Given the description of an element on the screen output the (x, y) to click on. 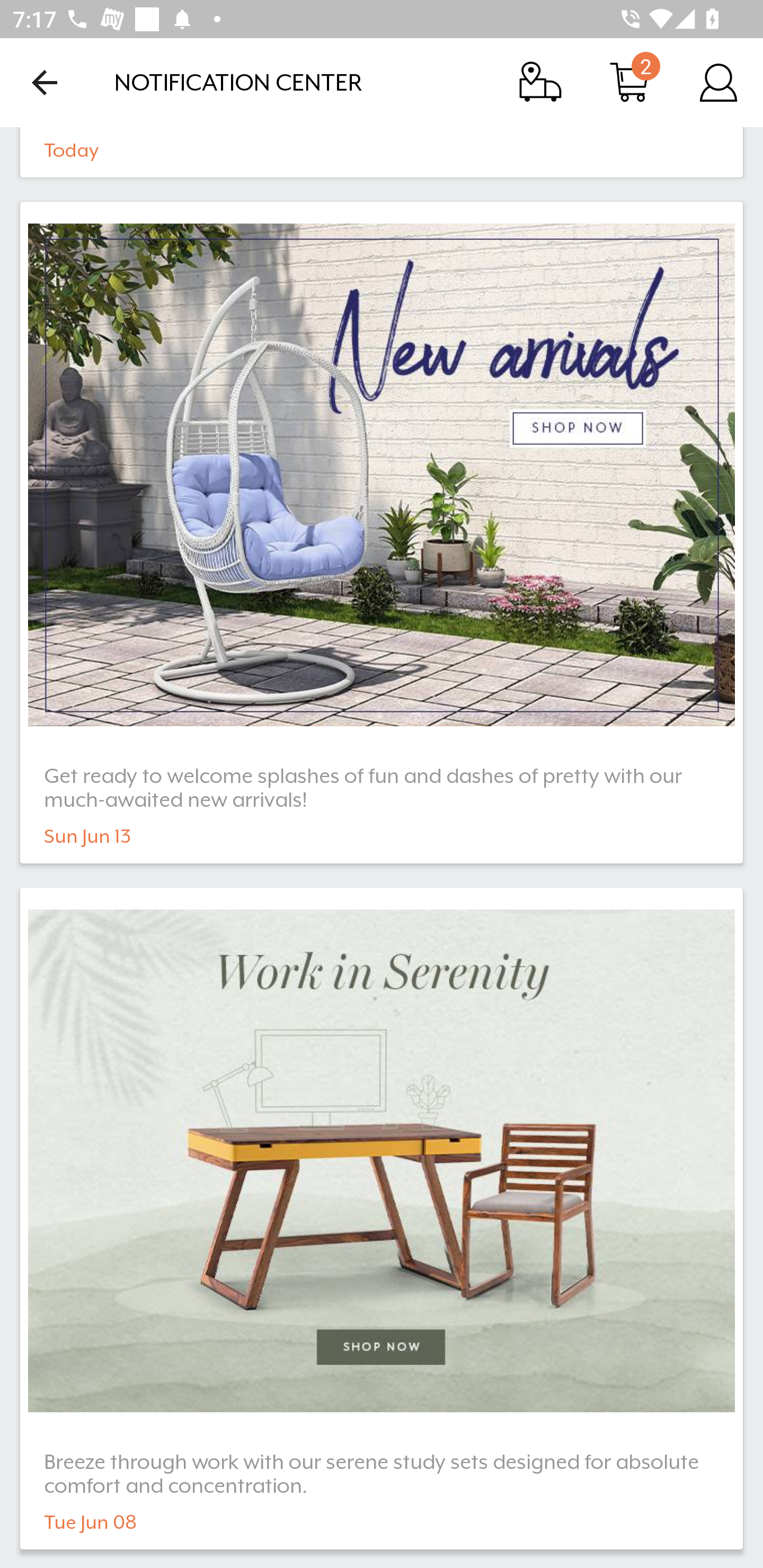
Navigate up (44, 82)
Track Order (540, 81)
Cart (629, 81)
Account Details (718, 81)
Today (381, 152)
